Given the description of an element on the screen output the (x, y) to click on. 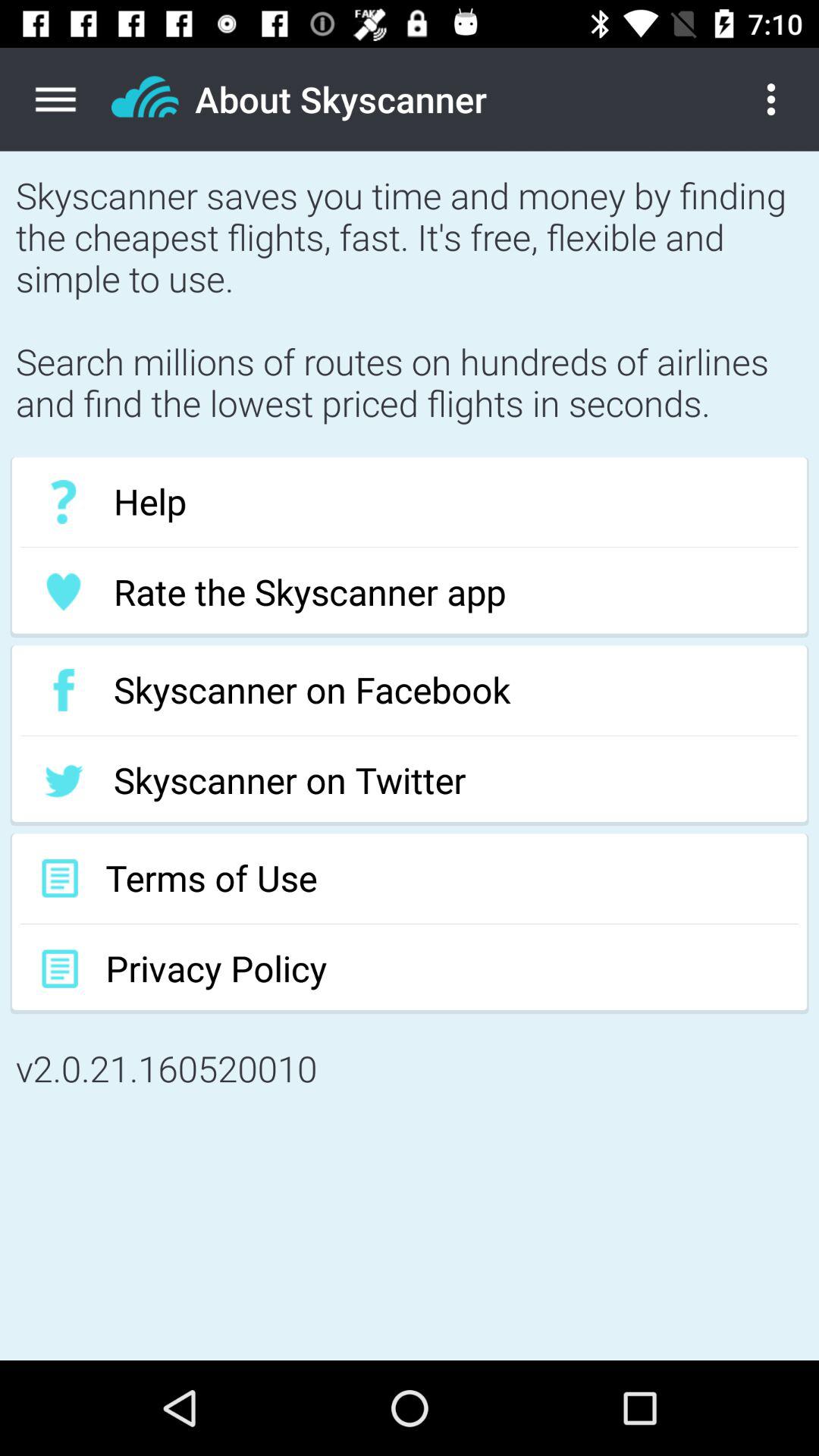
press the app to the right of the about skyscanner (783, 99)
